Given the description of an element on the screen output the (x, y) to click on. 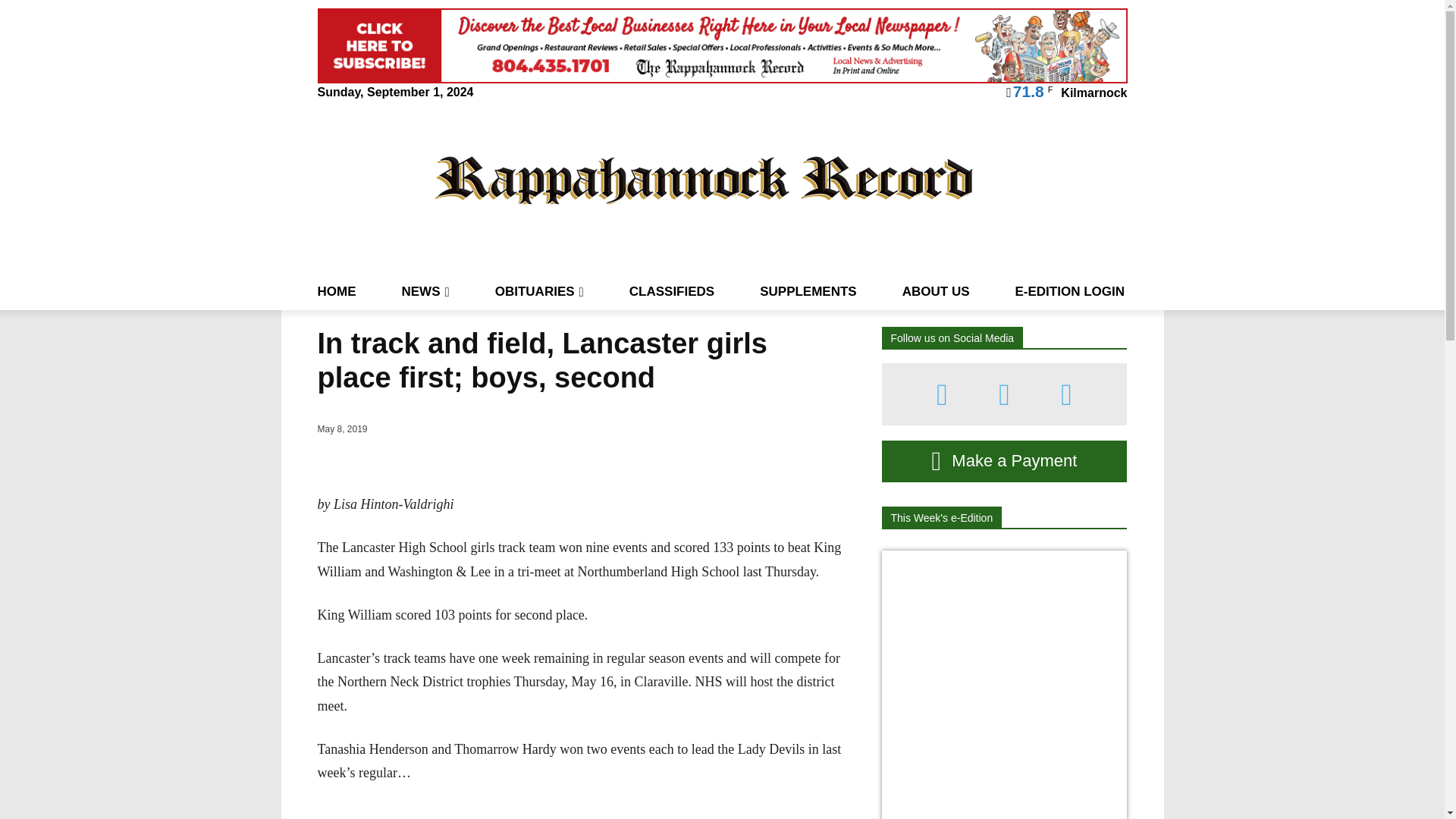
This Week's e-Edition (940, 516)
Rappahannock Record (704, 179)
Twitter (1066, 393)
OBITUARIES (539, 291)
Make a Payment (1003, 461)
Instagram (1003, 393)
Rappahannock Record (703, 179)
E-EDITION LOGIN (1069, 291)
CLASSIFIEDS (671, 291)
NEWS (425, 291)
